Given the description of an element on the screen output the (x, y) to click on. 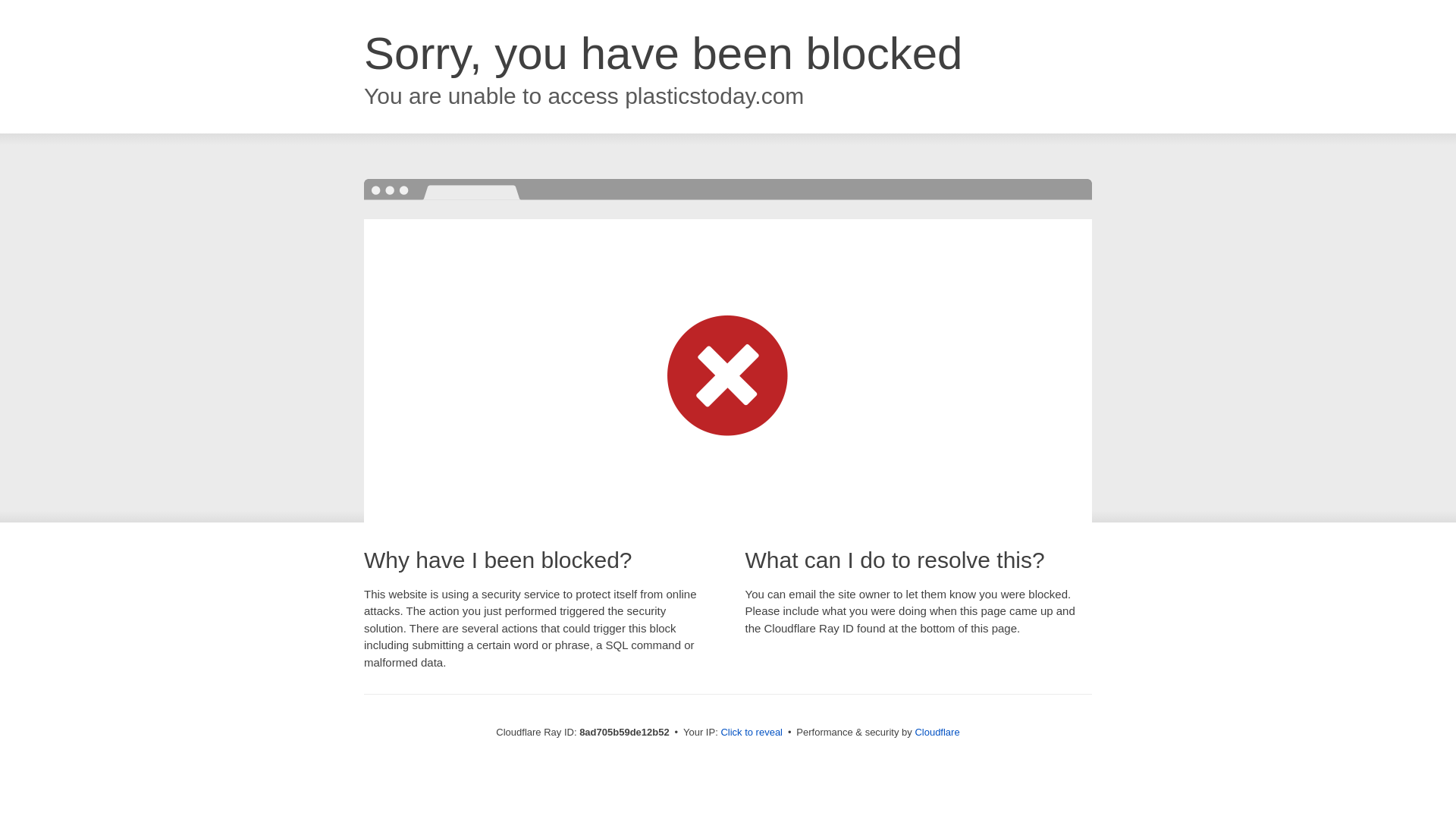
Click to reveal (751, 732)
Cloudflare (936, 731)
